Given the description of an element on the screen output the (x, y) to click on. 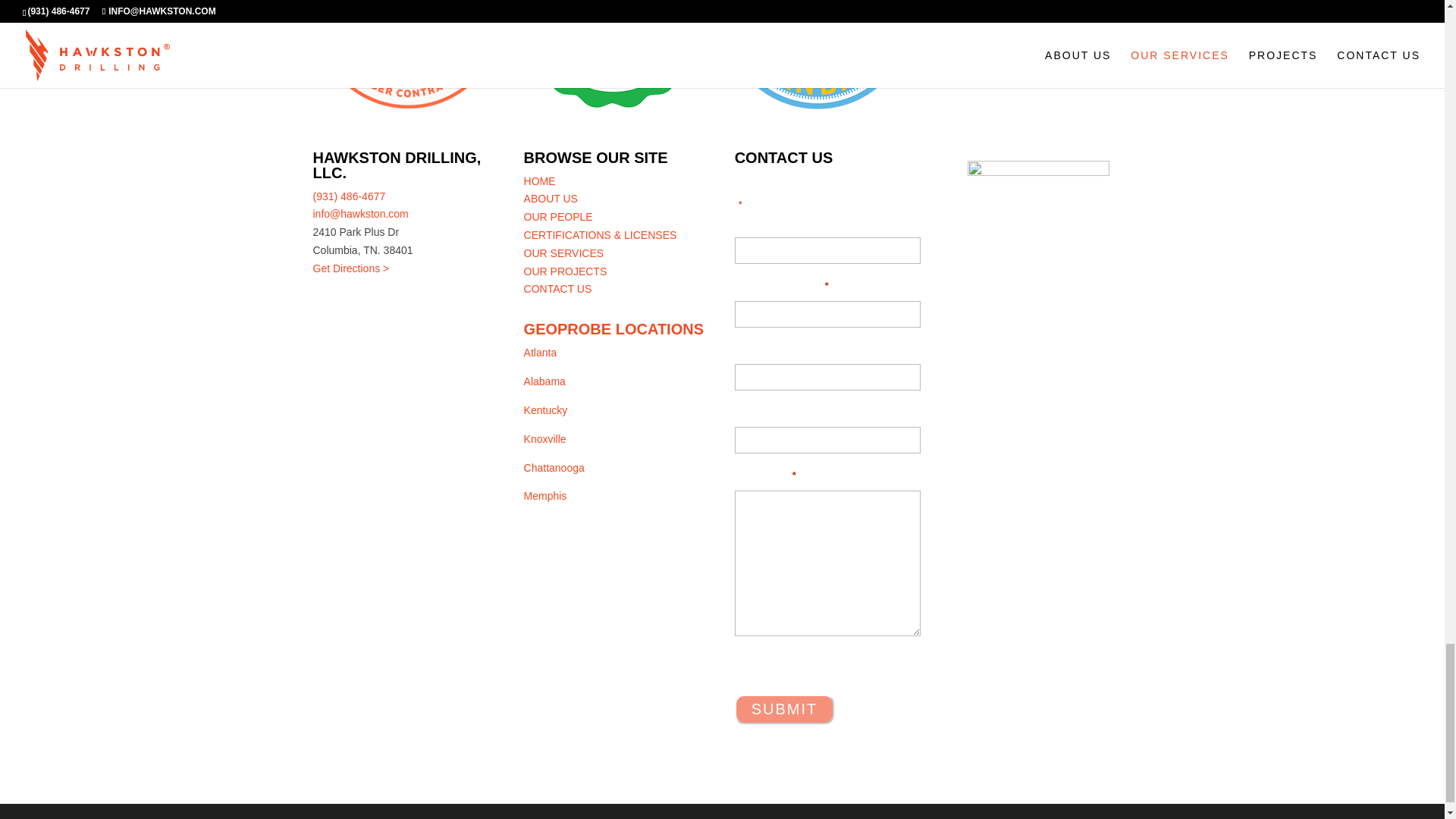
Avetta-Member-Logo (611, 54)
Submit (784, 708)
Knoxville (545, 439)
Submit (784, 708)
OUR PEOPLE (558, 216)
Muletown Digital (909, 818)
OUR SERVICES (564, 253)
Atlanta (540, 352)
GSS-LOGO (816, 54)
CONTACT US (558, 288)
